Given the description of an element on the screen output the (x, y) to click on. 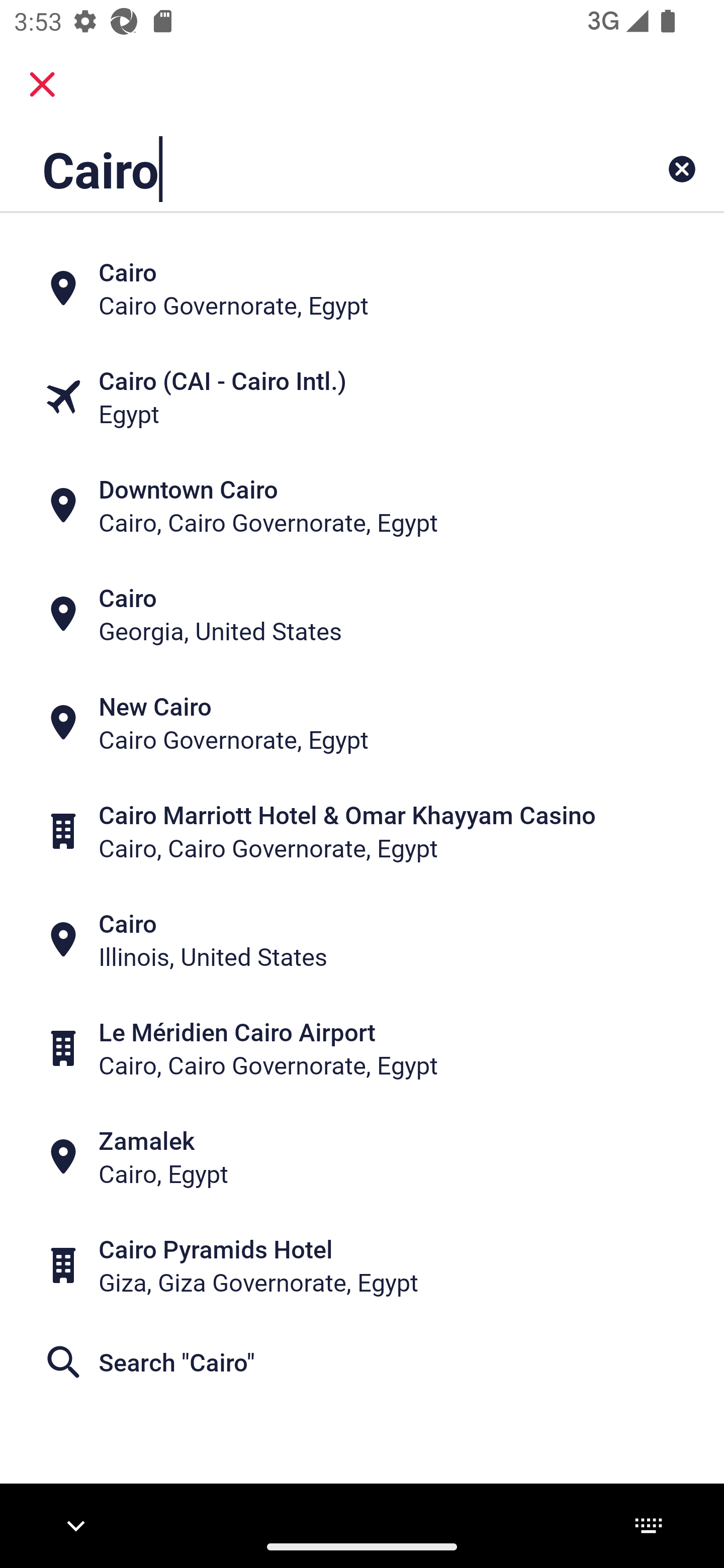
close. (42, 84)
Clear (681, 169)
Cairo (298, 169)
Cairo Cairo Governorate, Egypt (362, 288)
Cairo (CAI - Cairo Intl.) Egypt (362, 397)
Downtown Cairo Cairo, Cairo Governorate, Egypt (362, 505)
Cairo Georgia, United States (362, 613)
New Cairo Cairo Governorate, Egypt (362, 722)
Cairo Illinois, United States (362, 939)
Zamalek Cairo, Egypt (362, 1156)
Cairo Pyramids Hotel Giza, Giza Governorate, Egypt (362, 1265)
Search "Cairo" (362, 1362)
